Given the description of an element on the screen output the (x, y) to click on. 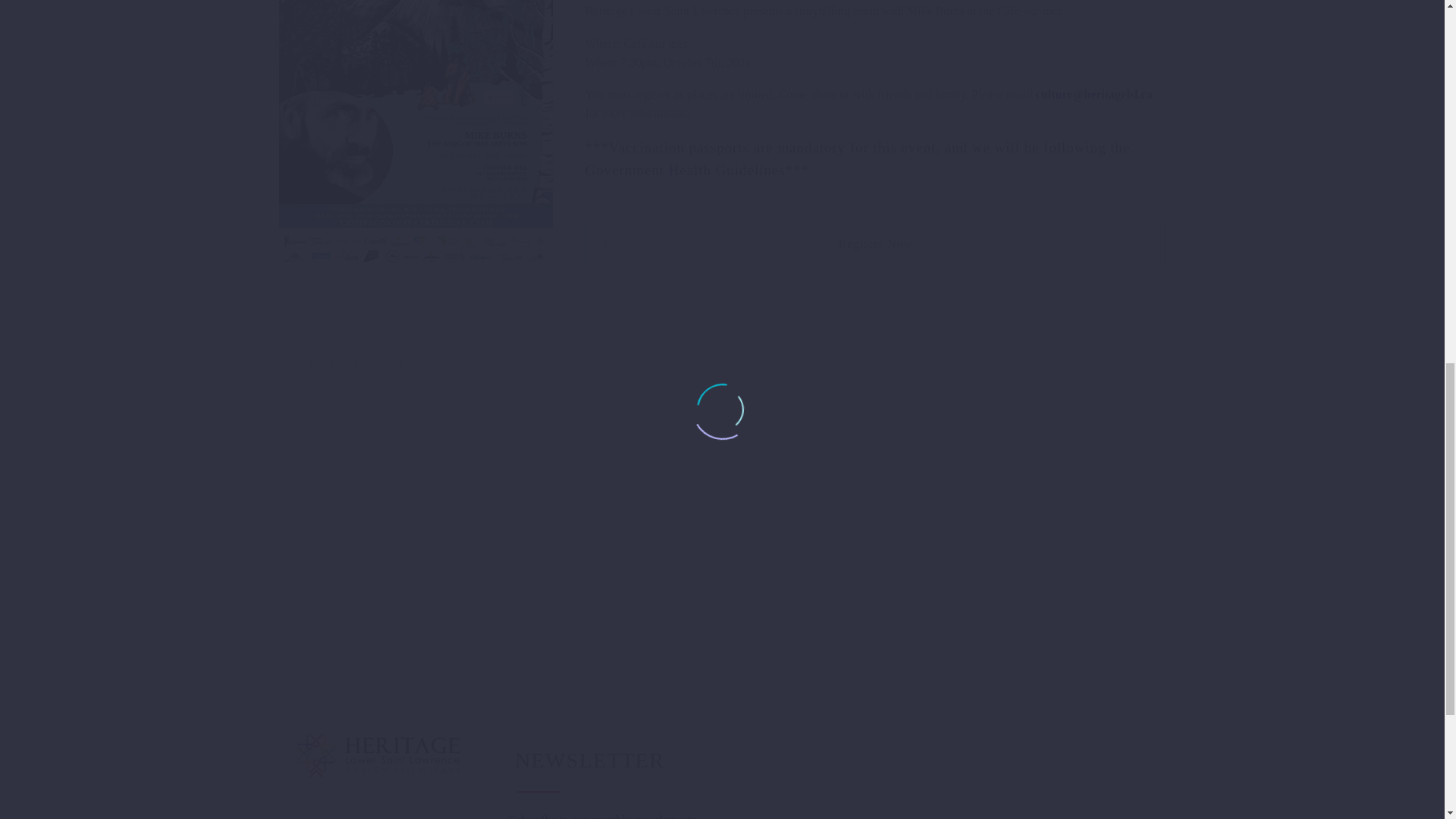
Pinterest (333, 363)
Tumblr (356, 363)
LinkedIn (378, 363)
Twitter (310, 363)
Facebook (288, 363)
Reddit (401, 363)
